Given the description of an element on the screen output the (x, y) to click on. 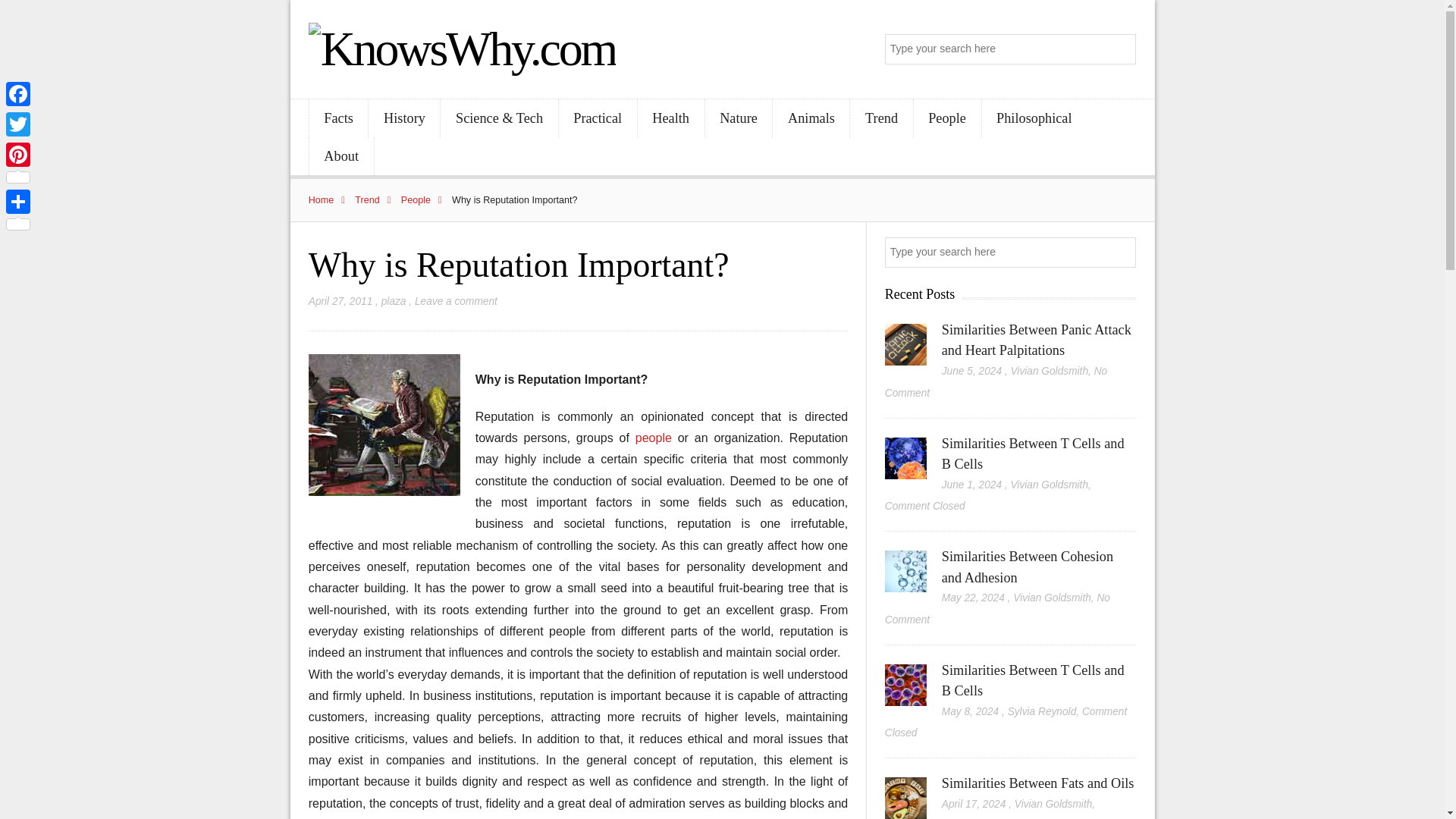
Health (670, 118)
About (341, 156)
WHY DO GOOD THINGS HAPPEN TO BAD PEOPLE? (656, 437)
Philosophical (1033, 118)
Trend (881, 118)
Search (1123, 49)
People (947, 118)
Practical (598, 118)
Trend (376, 199)
Nature (738, 118)
people (656, 437)
History (403, 118)
Animals (810, 118)
plaza (393, 301)
People (425, 199)
